Given the description of an element on the screen output the (x, y) to click on. 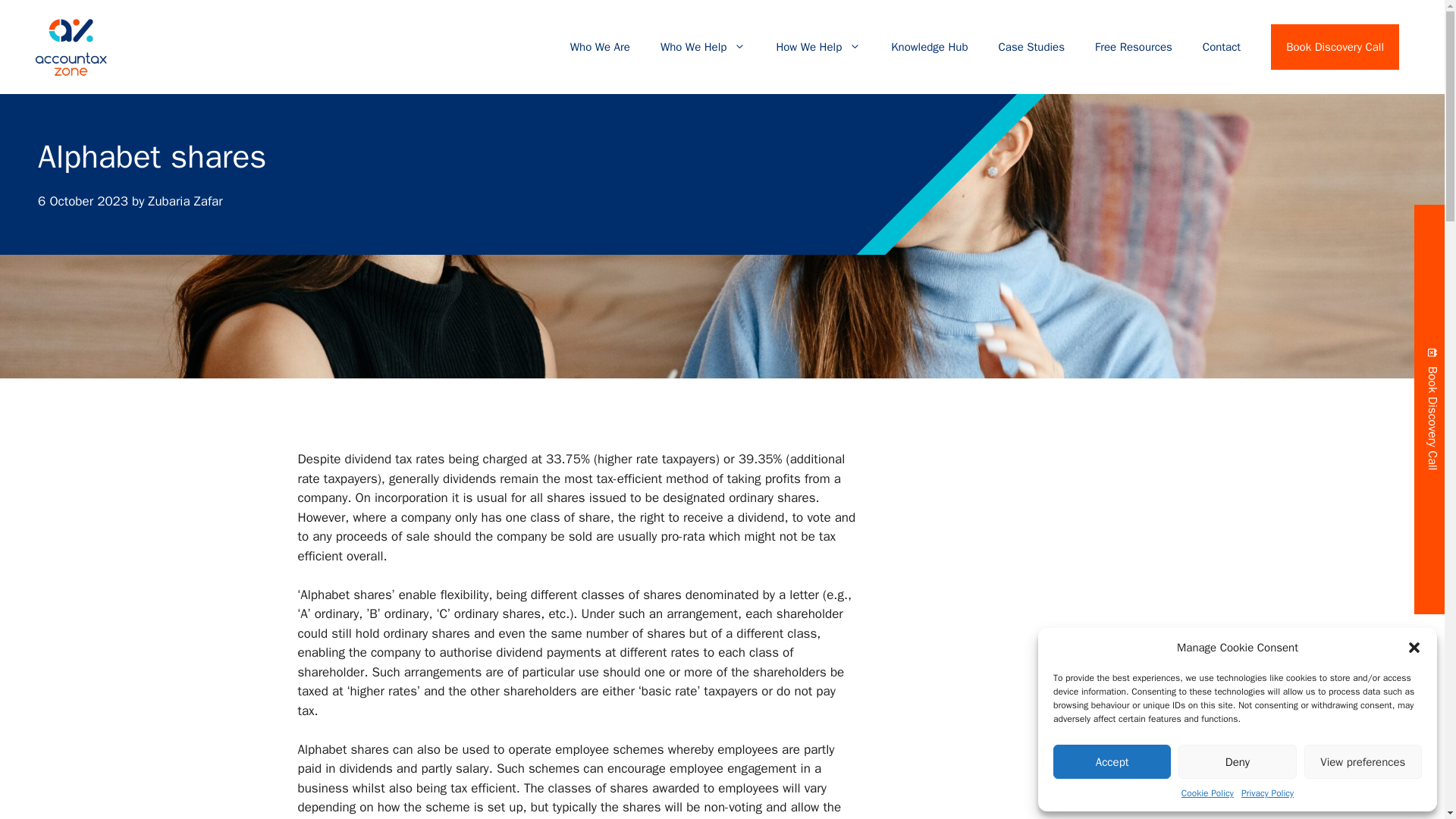
How We Help (818, 46)
Who We Are (599, 46)
Who We Help (702, 46)
Privacy Policy (1267, 793)
Accept (1111, 761)
Cookie Policy (1206, 793)
Deny (1236, 761)
View preferences (1363, 761)
